Given the description of an element on the screen output the (x, y) to click on. 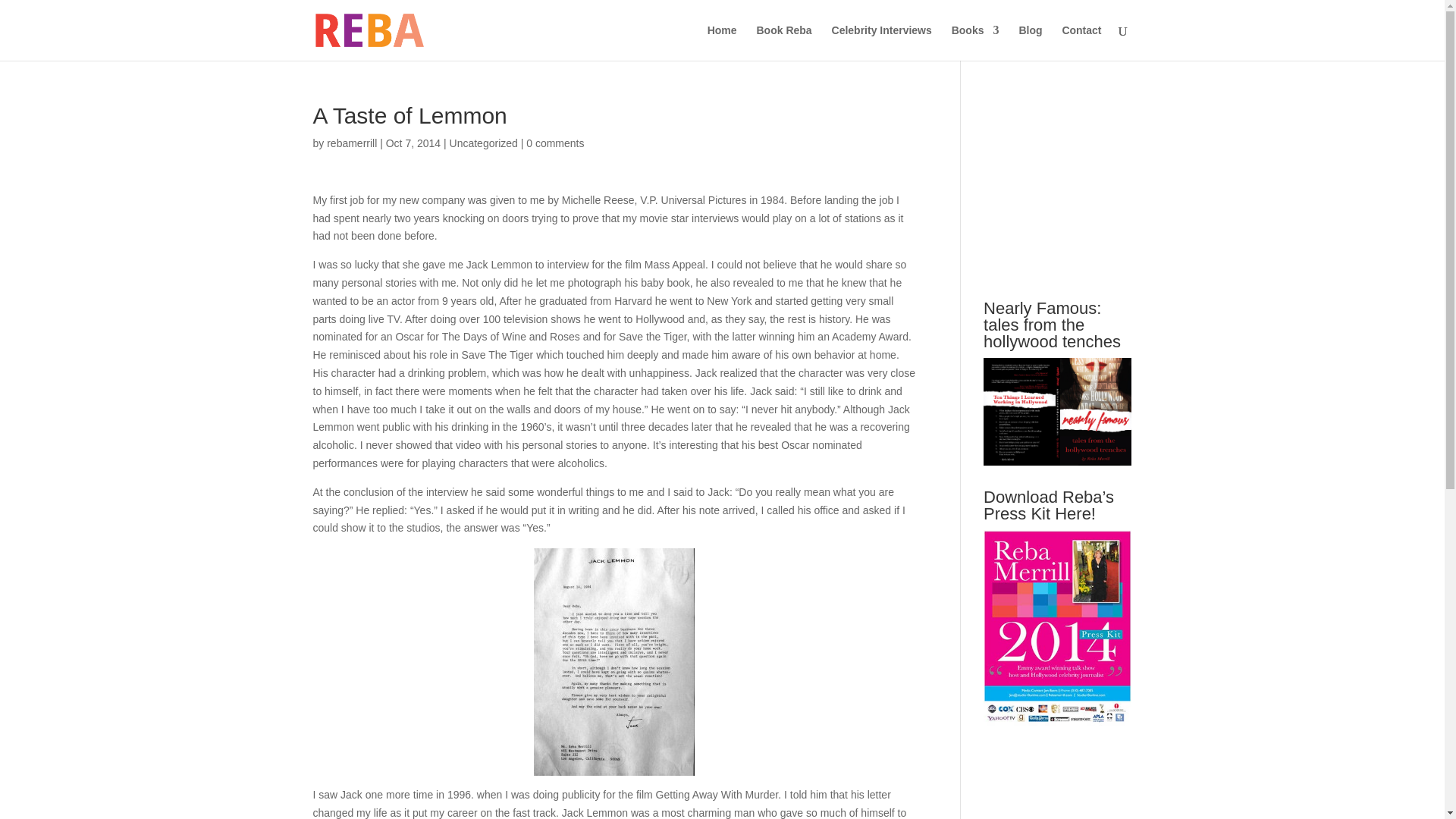
Celebrity Interviews (881, 42)
rebamerrill (351, 143)
Advertisement (1097, 199)
Posts by rebamerrill (351, 143)
Books (975, 42)
Uncategorized (483, 143)
0 comments (554, 143)
Contact (1080, 42)
Book Reba (784, 42)
